Given the description of an element on the screen output the (x, y) to click on. 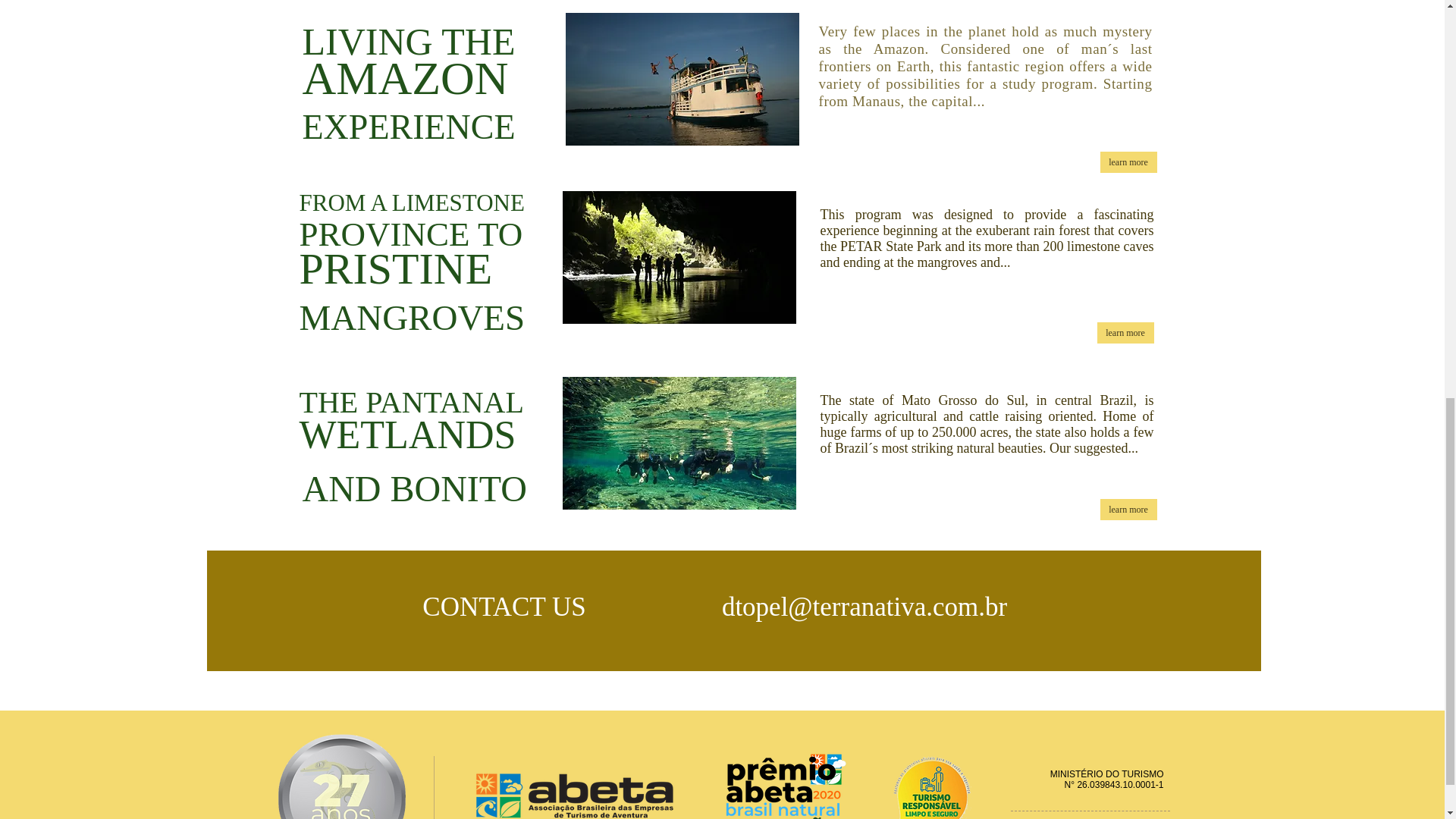
learn more (1127, 161)
learn more (1124, 332)
learn more (1127, 509)
